Given the description of an element on the screen output the (x, y) to click on. 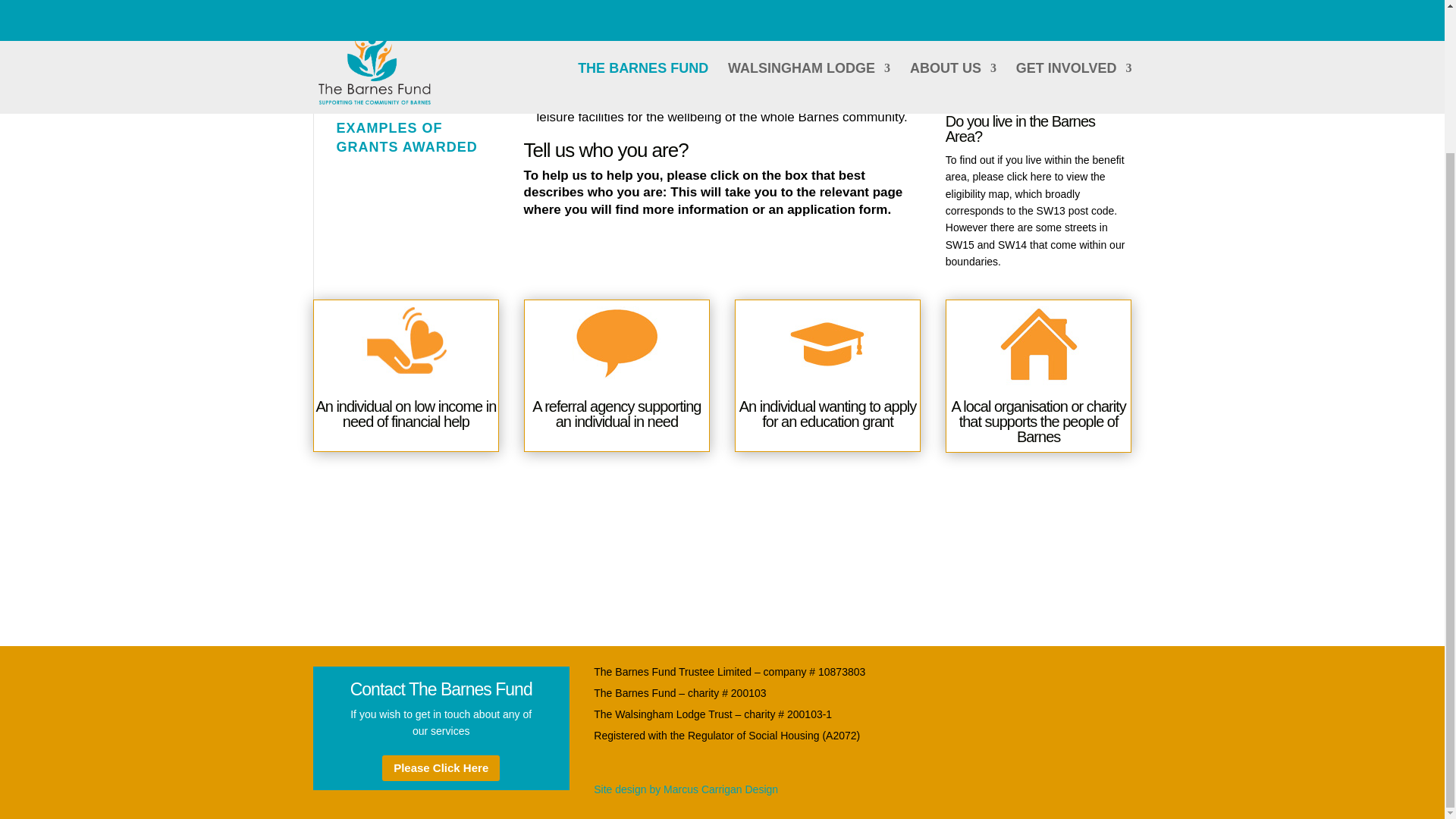
CHARITY OR VOLUNTARY ORGANISATION (393, 82)
The area of Barnes that the Barnes Fund serves (1038, 97)
Site design by Marcus Carrigan Design (685, 788)
EXAMPLES OF GRANTS AWARDED (406, 137)
Please Click Here (440, 768)
INDIVIDUAL EDUCATION (379, 28)
The area of Barnes that the Barnes Fund serves (1038, 50)
